Given the description of an element on the screen output the (x, y) to click on. 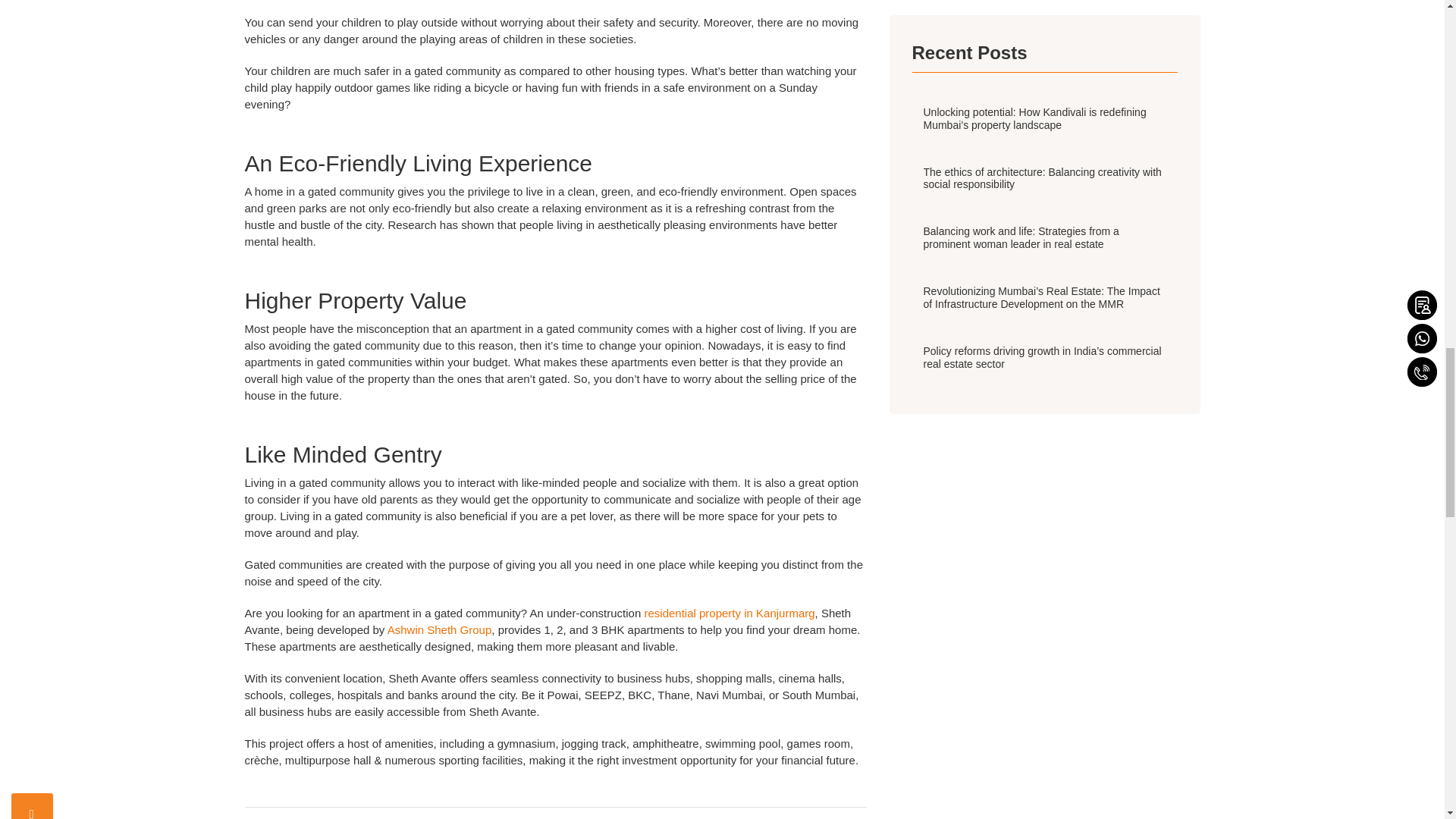
residential property in Kanjurmarg (728, 612)
Ashwin Sheth Group (438, 629)
